Given the description of an element on the screen output the (x, y) to click on. 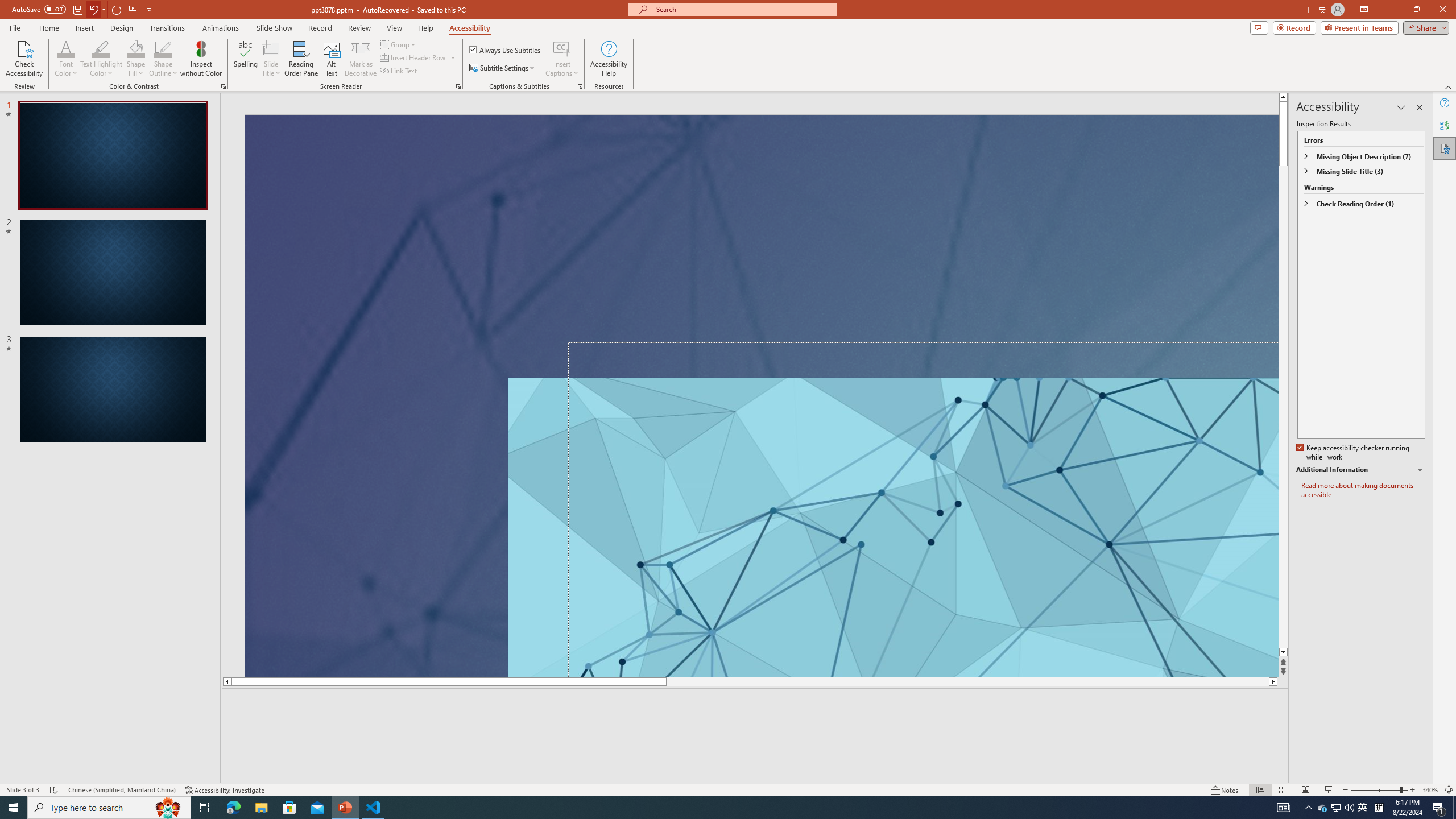
Subtitle Settings (502, 67)
Check Accessibility (23, 58)
Insert Header Row (413, 56)
Always Use Subtitles (505, 49)
Insert Captions (561, 48)
Zoom 340% (1430, 790)
Spelling... (245, 58)
